Given the description of an element on the screen output the (x, y) to click on. 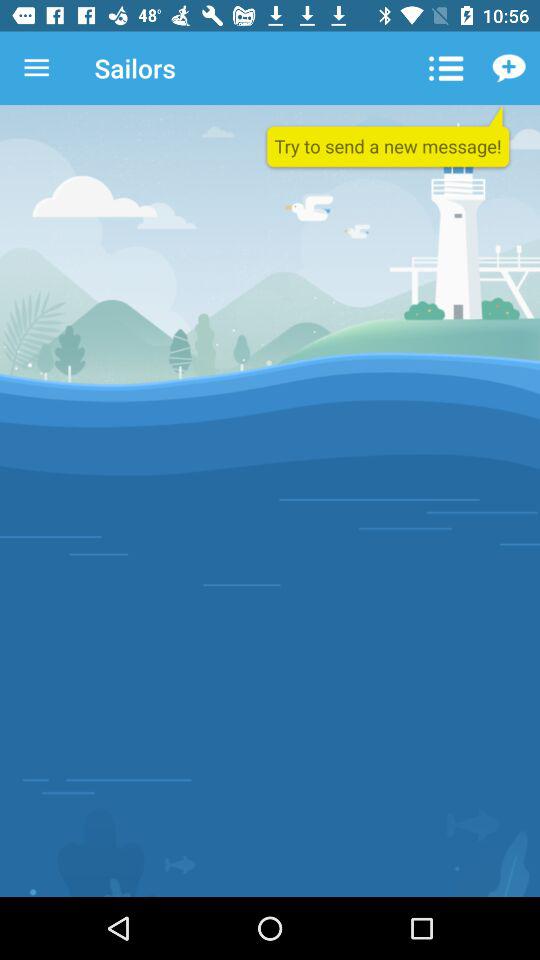
click the try to send (388, 138)
